Given the description of an element on the screen output the (x, y) to click on. 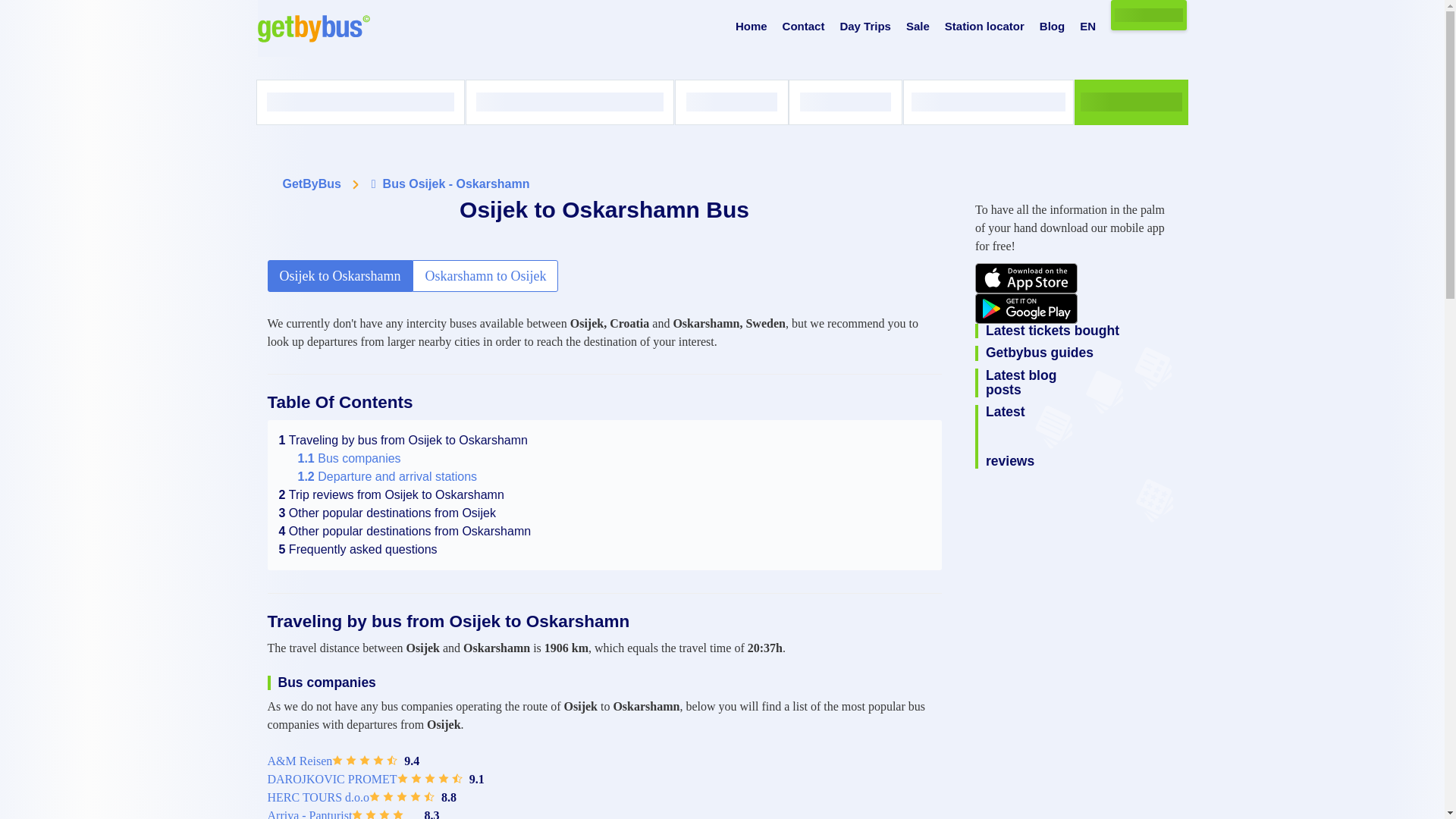
HERC TOURS d.o.o (317, 797)
Other popular destinations from Oskarshamn (405, 530)
 GetByBus (311, 183)
Station locator (984, 26)
Bus companies (348, 458)
Departure and arrival stations (387, 476)
Frequently asked questions (358, 549)
Trip reviews from Osijek to Oskarshamn (391, 494)
Day Trips (865, 26)
Oskarshamn to Osijek (484, 275)
GetByBus (311, 183)
Traveling by bus from Osijek to Oskarshamn (403, 440)
Other popular destinations from Osijek (387, 512)
DAROJKOVIC PROMET (331, 779)
Arriva - Panturist (309, 812)
